Given the description of an element on the screen output the (x, y) to click on. 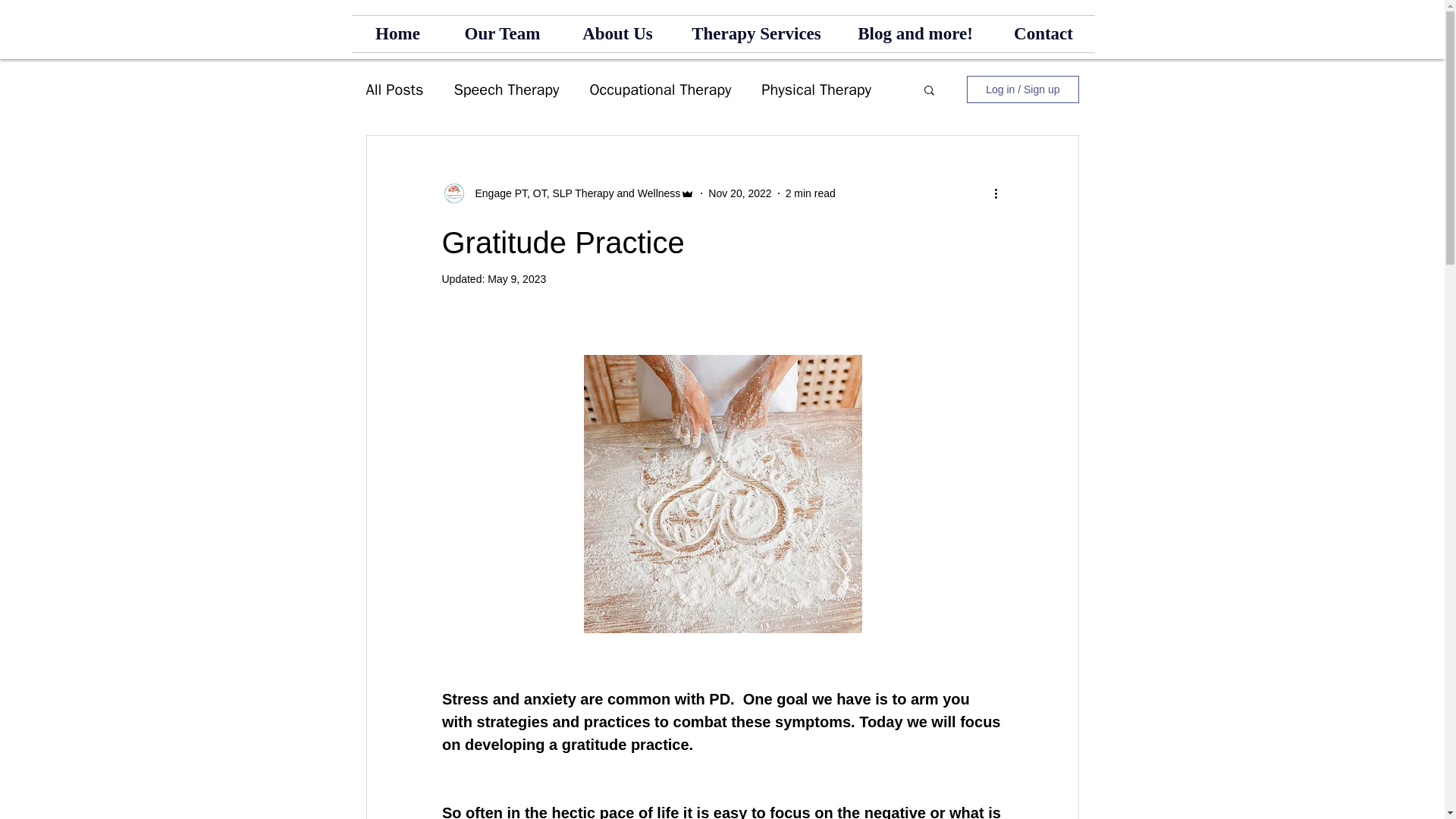
Therapy Services (756, 33)
Blog and more! (914, 33)
Home (398, 33)
2 min read (810, 192)
Engage PT, OT, SLP Therapy and Wellness (572, 192)
Our Team (502, 33)
Nov 20, 2022 (739, 192)
May 9, 2023 (516, 278)
About Us (617, 33)
